Given the description of an element on the screen output the (x, y) to click on. 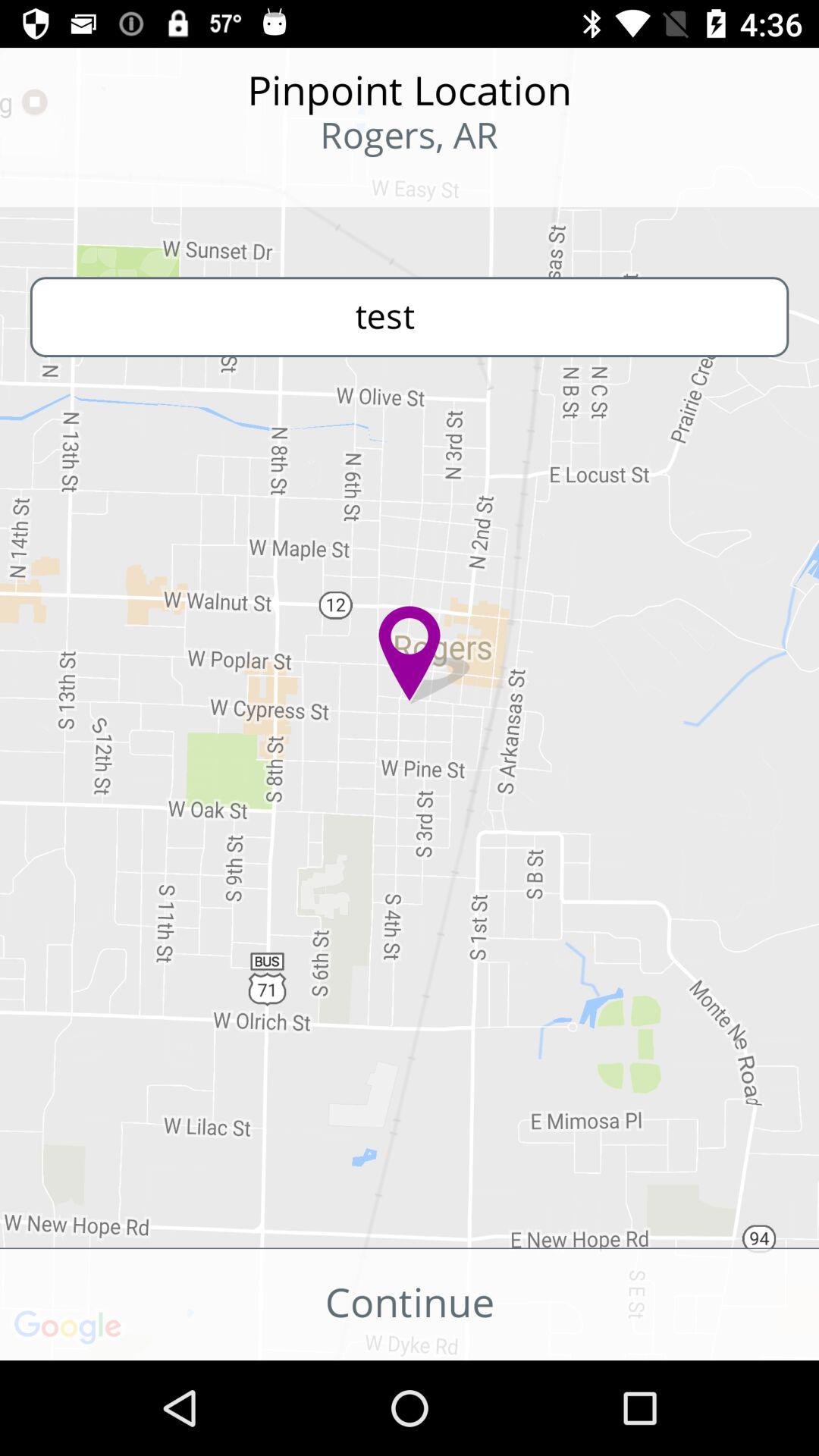
press the icon to the left of the rogers, ar item (99, 182)
